Given the description of an element on the screen output the (x, y) to click on. 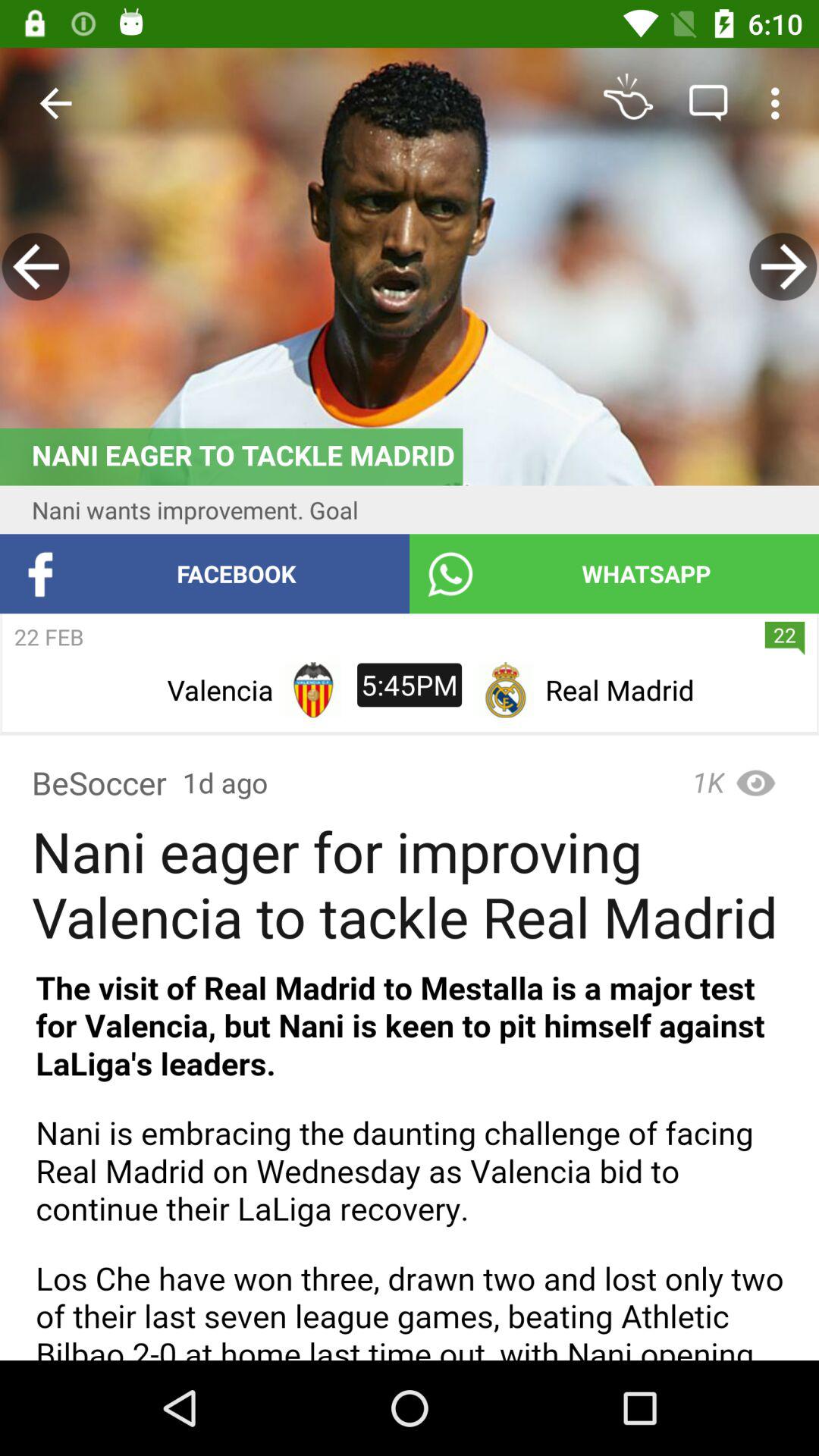
go to next page (783, 266)
